Given the description of an element on the screen output the (x, y) to click on. 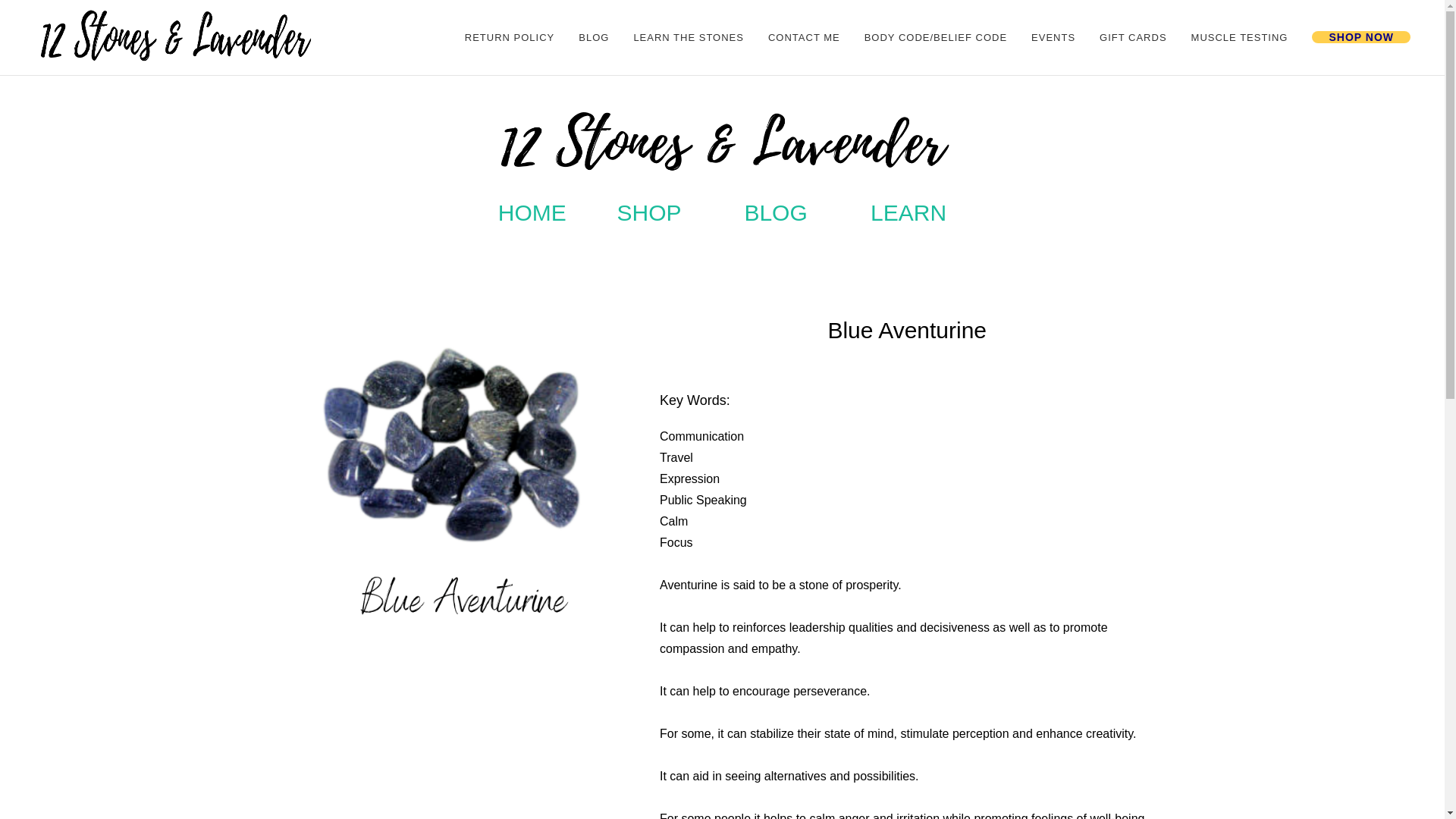
LEARN THE STONES (688, 38)
BLOG (775, 212)
SHOP NOW (1361, 38)
MUSCLE TESTING (1239, 38)
LEARN (908, 212)
SHOP (649, 212)
GIFT CARDS (1132, 38)
RETURN POLICY (509, 38)
HOME (531, 212)
CONTACT ME (804, 38)
